Given the description of an element on the screen output the (x, y) to click on. 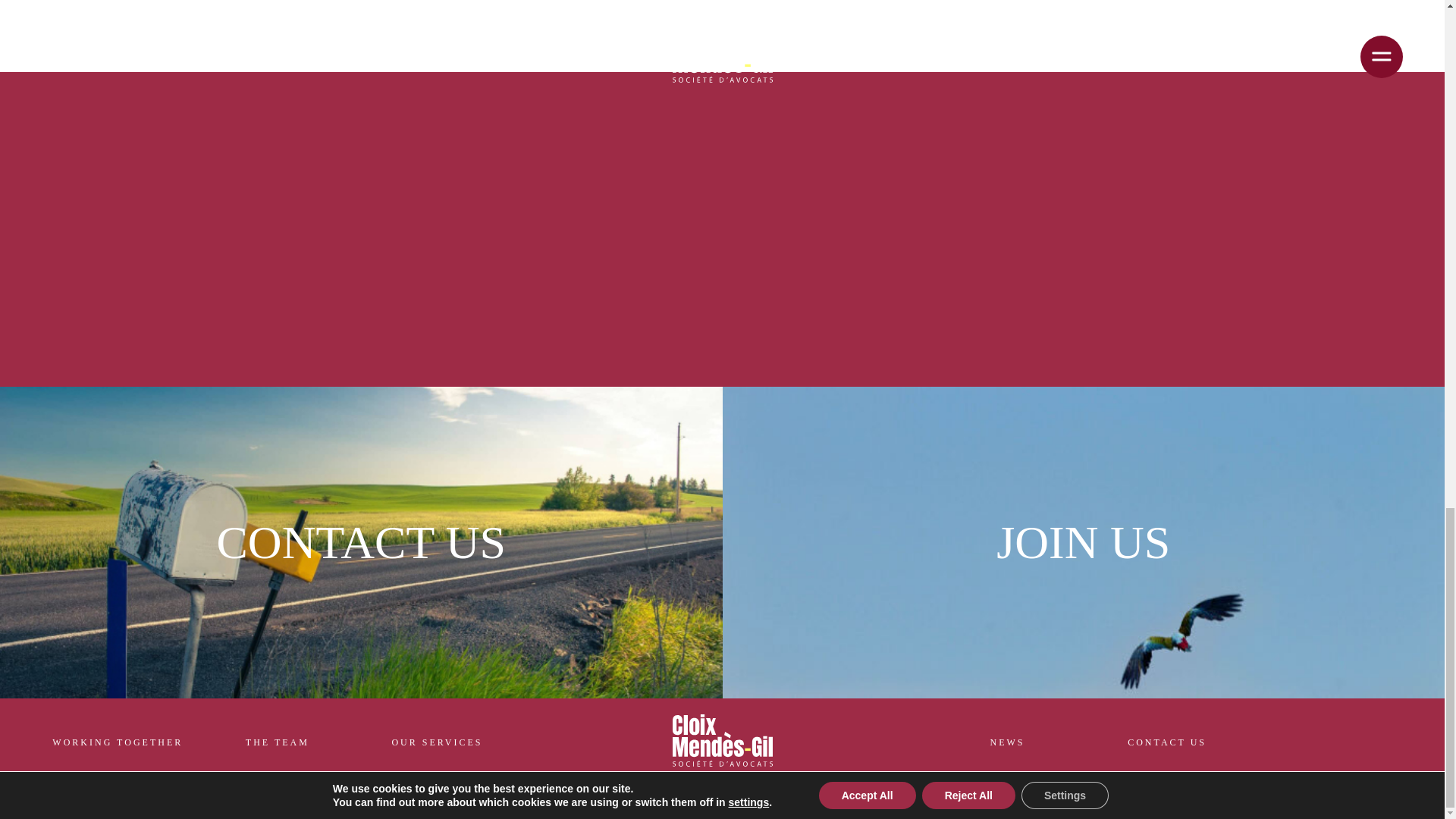
LEGAL NOTICE (671, 802)
CONTACT US (1166, 742)
NEWS (1007, 742)
WORKING TOGETHER (117, 742)
OUR SERVICES (436, 742)
THE TEAM (277, 742)
PRIVACY POLICY (766, 802)
